Given the description of an element on the screen output the (x, y) to click on. 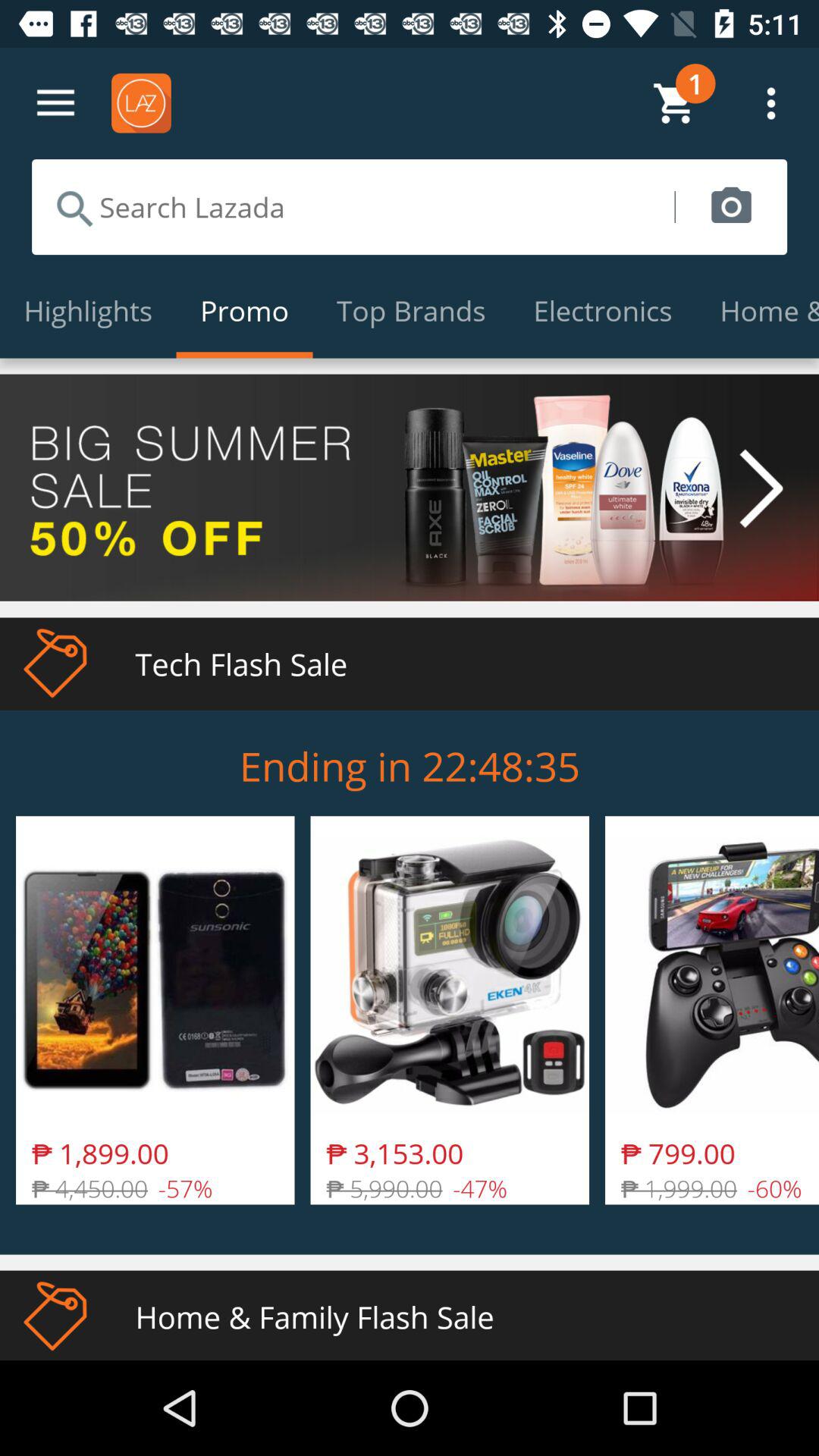
enter search keywords (352, 206)
